Given the description of an element on the screen output the (x, y) to click on. 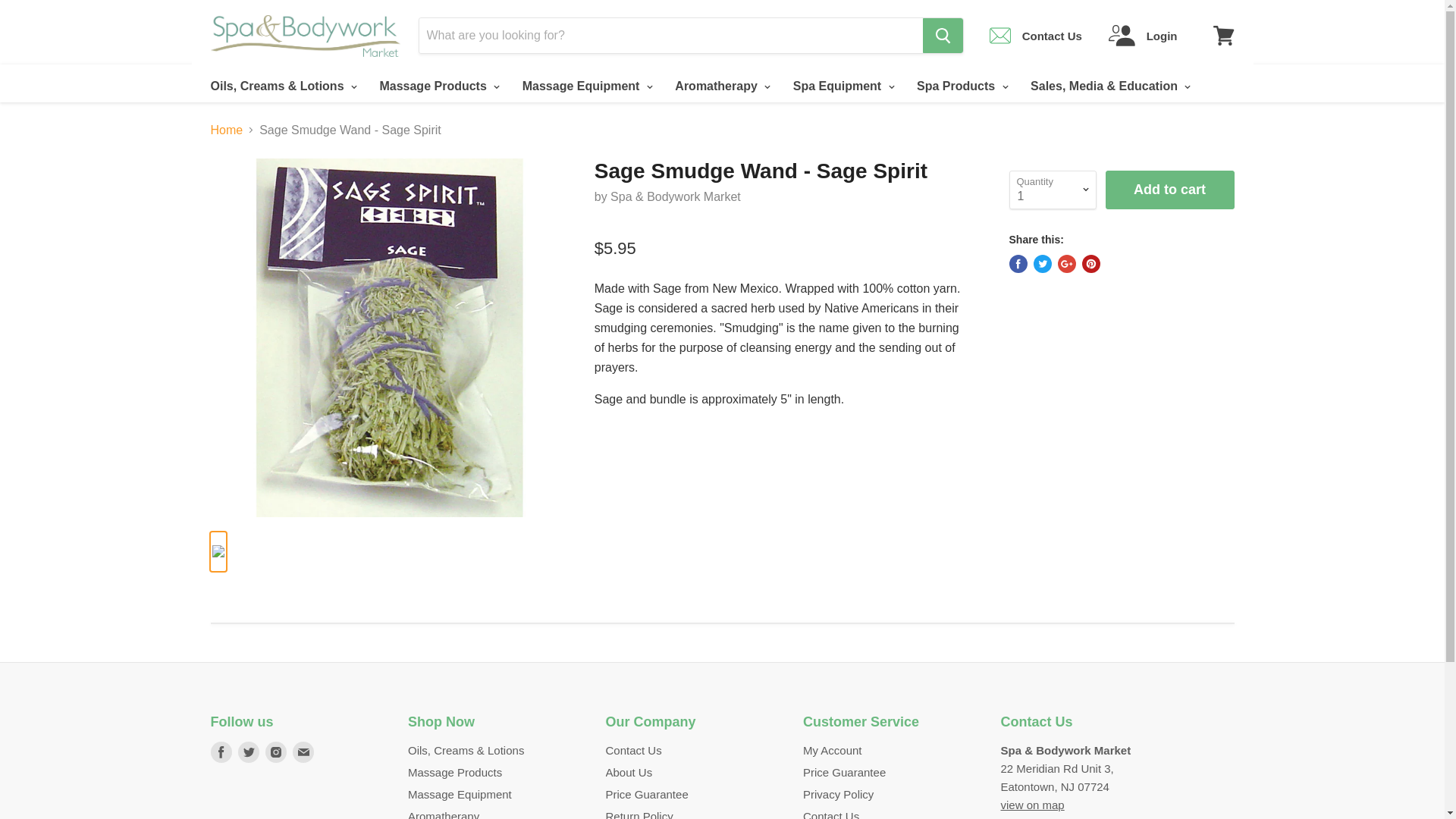
Twitter (248, 751)
Contact Us (1035, 35)
Massage Products (437, 86)
E-mail (303, 751)
Facebook (221, 751)
Massage Equipment (586, 86)
Login (1142, 35)
Instagram (275, 751)
View cart (1223, 35)
